Given the description of an element on the screen output the (x, y) to click on. 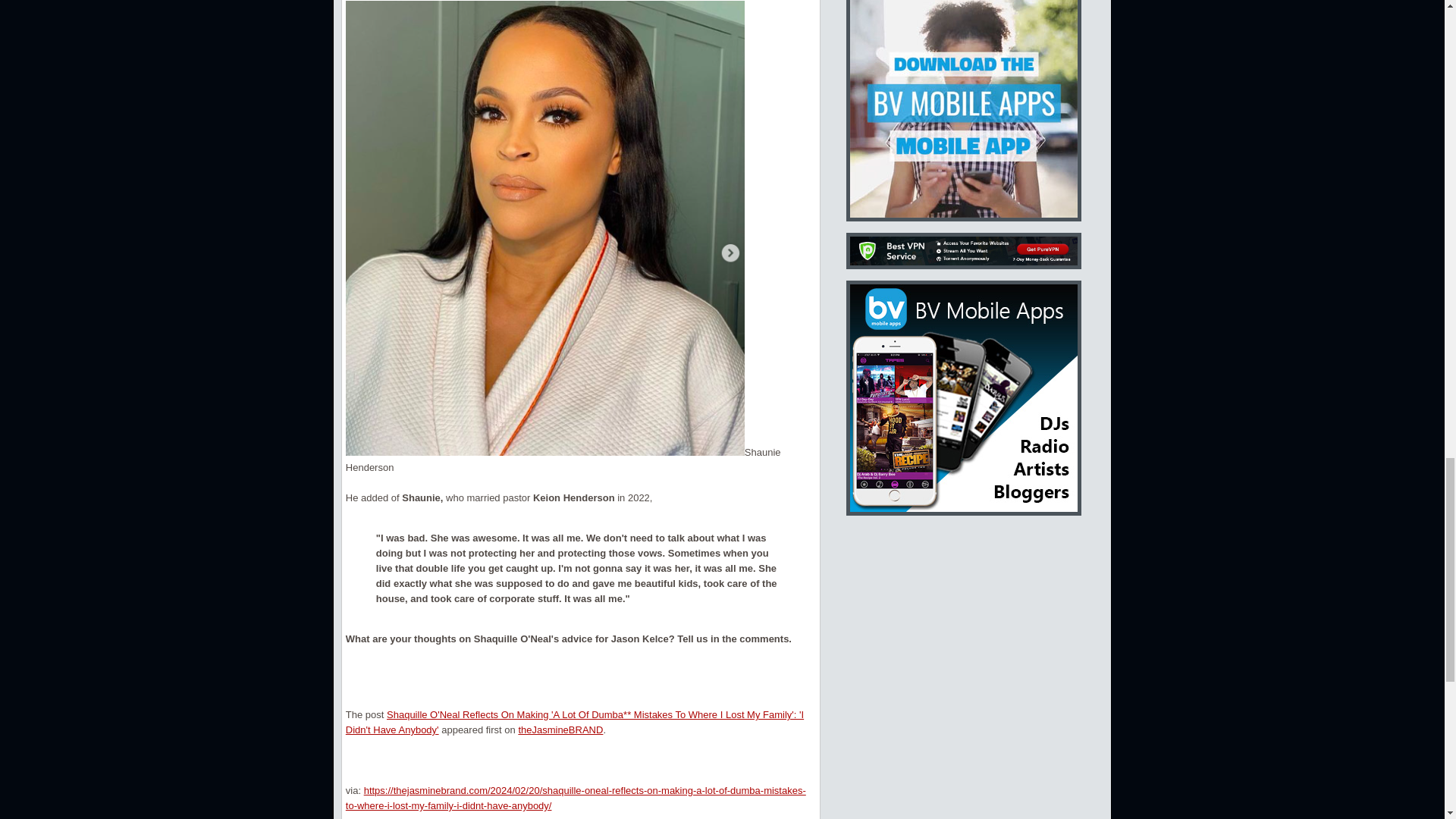
theJasmineBRAND (560, 729)
